Given the description of an element on the screen output the (x, y) to click on. 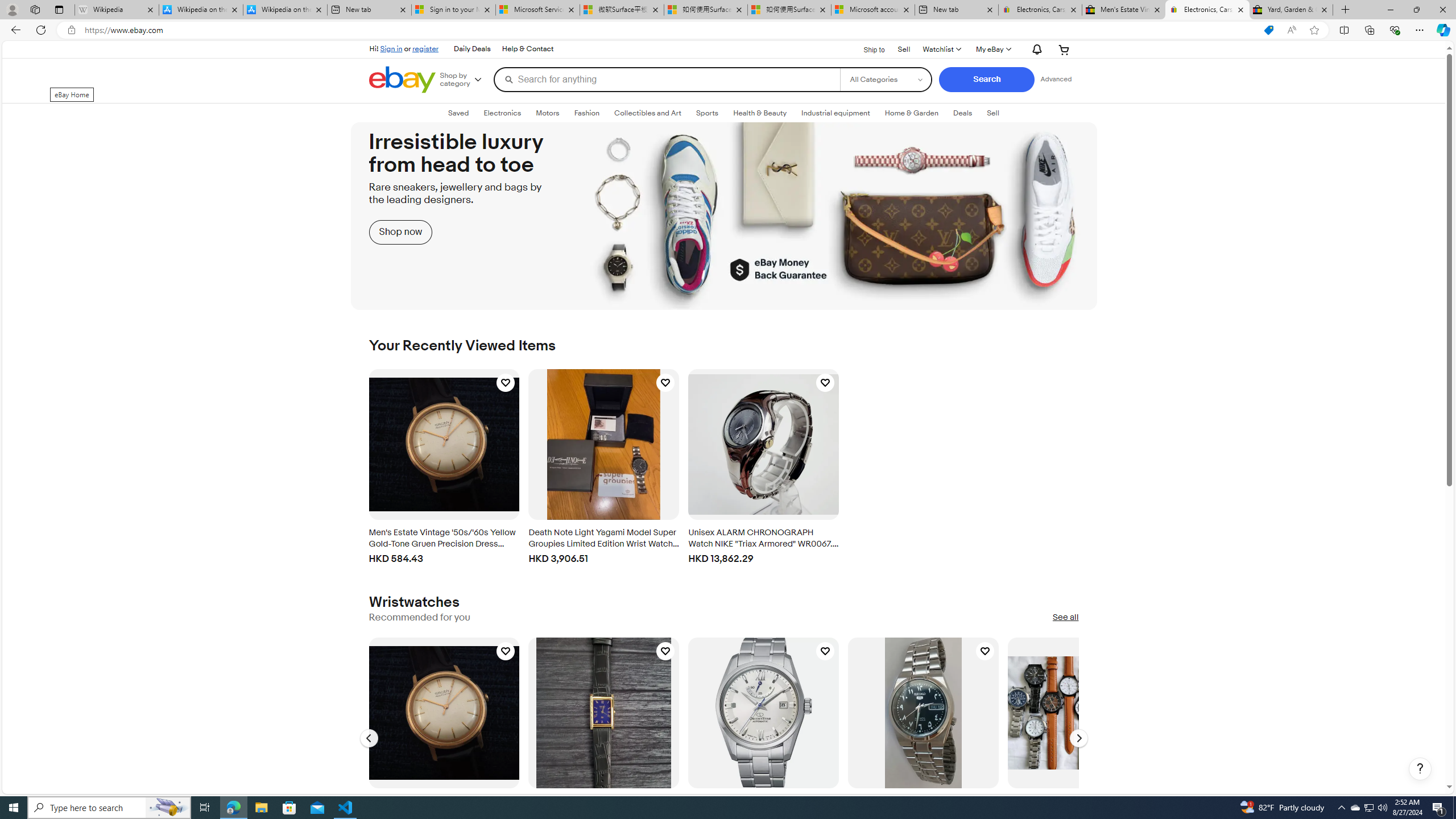
Watchlist (940, 49)
Sell (992, 112)
Saved (458, 112)
Your shopping cart (1064, 49)
SellExpand: Sell (992, 112)
Help & Contact (527, 49)
Ship to (866, 48)
Industrial equipment (835, 112)
MotorsExpand: Motors (547, 112)
